Given the description of an element on the screen output the (x, y) to click on. 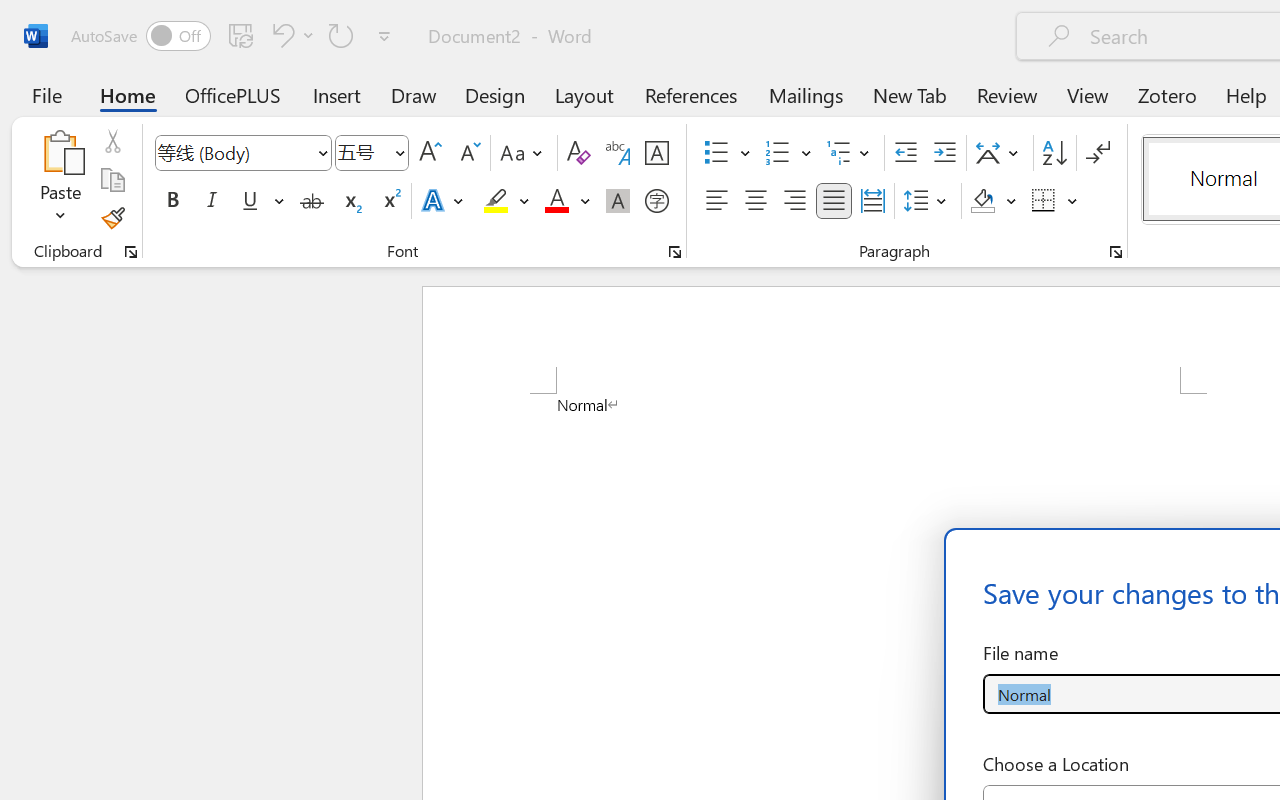
Numbering (788, 153)
OfficePLUS (233, 94)
Justify (834, 201)
Font (242, 153)
Paste (60, 151)
Borders (1055, 201)
Save (241, 35)
Font (234, 152)
Font Size (372, 153)
Bullets (716, 153)
Underline (250, 201)
Clear Formatting (578, 153)
Quick Access Toolbar (233, 36)
Format Painter (112, 218)
